Given the description of an element on the screen output the (x, y) to click on. 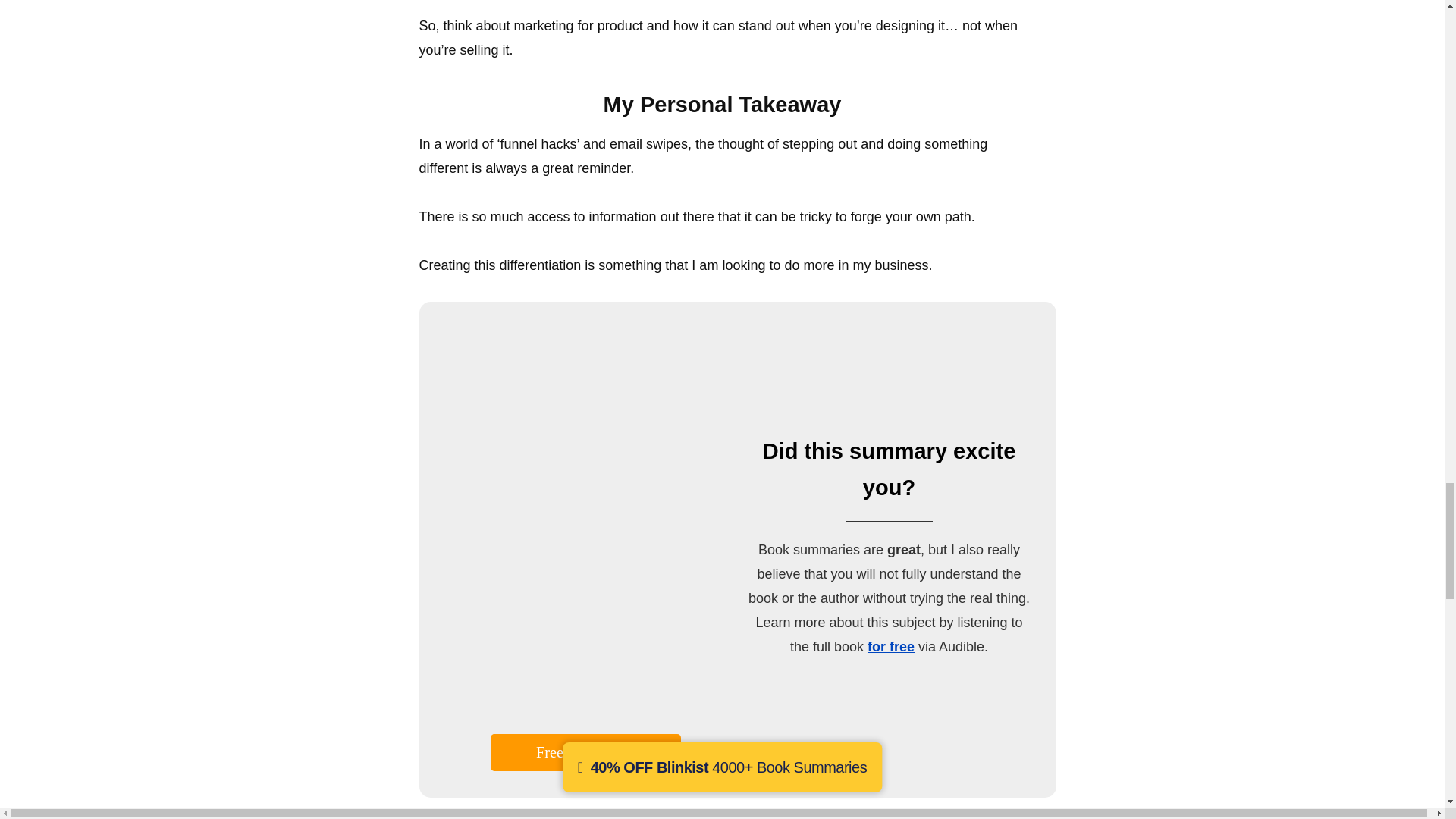
for free (890, 646)
Free Audiobook (585, 751)
